Given the description of an element on the screen output the (x, y) to click on. 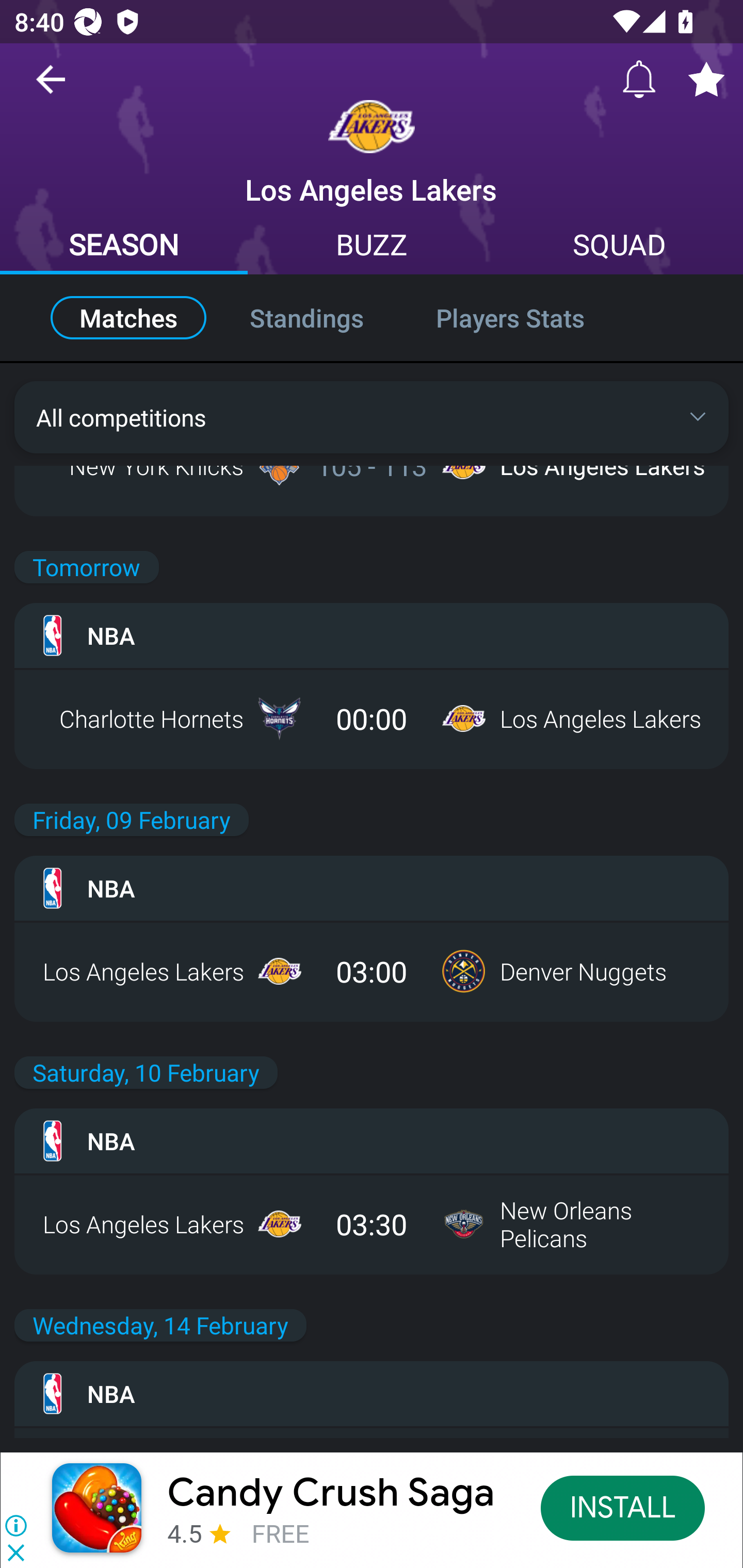
Navigate up (50, 86)
SEASON (123, 246)
BUZZ (371, 246)
SQUAD (619, 246)
Standings (306, 317)
Players Stats (531, 317)
All competitions (371, 417)
NBA (371, 635)
Charlotte Hornets 00:00 Los Angeles Lakers (371, 717)
NBA (371, 888)
Los Angeles Lakers 03:00 Denver Nuggets (371, 971)
NBA (371, 1140)
Los Angeles Lakers 03:30 New Orleans Pelicans (371, 1223)
NBA (371, 1393)
Candy Crush Saga (330, 1493)
INSTALL (623, 1507)
4.5 (184, 1533)
FREE (280, 1533)
